Given the description of an element on the screen output the (x, y) to click on. 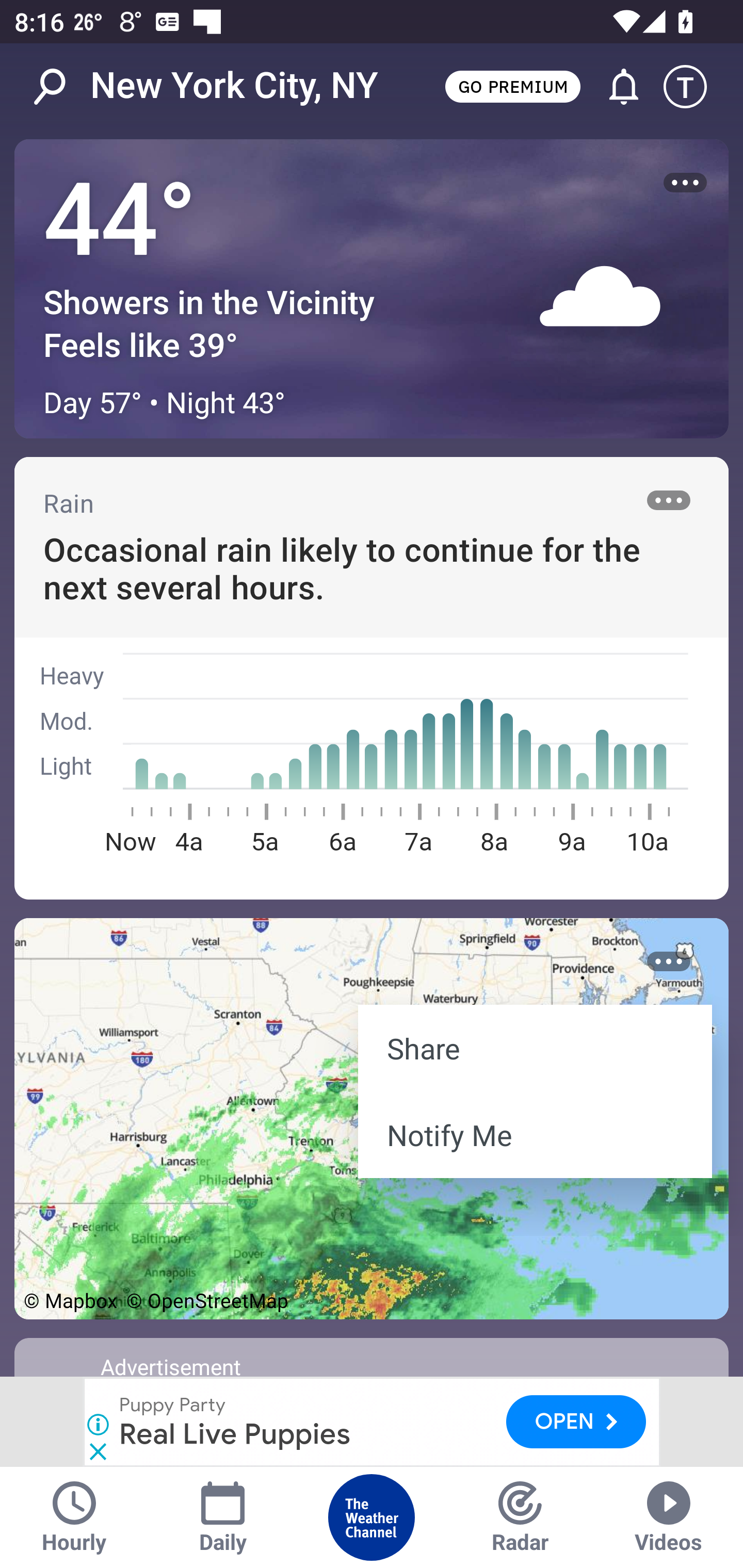
Share (534, 1048)
Notify Me (534, 1134)
